Given the description of an element on the screen output the (x, y) to click on. 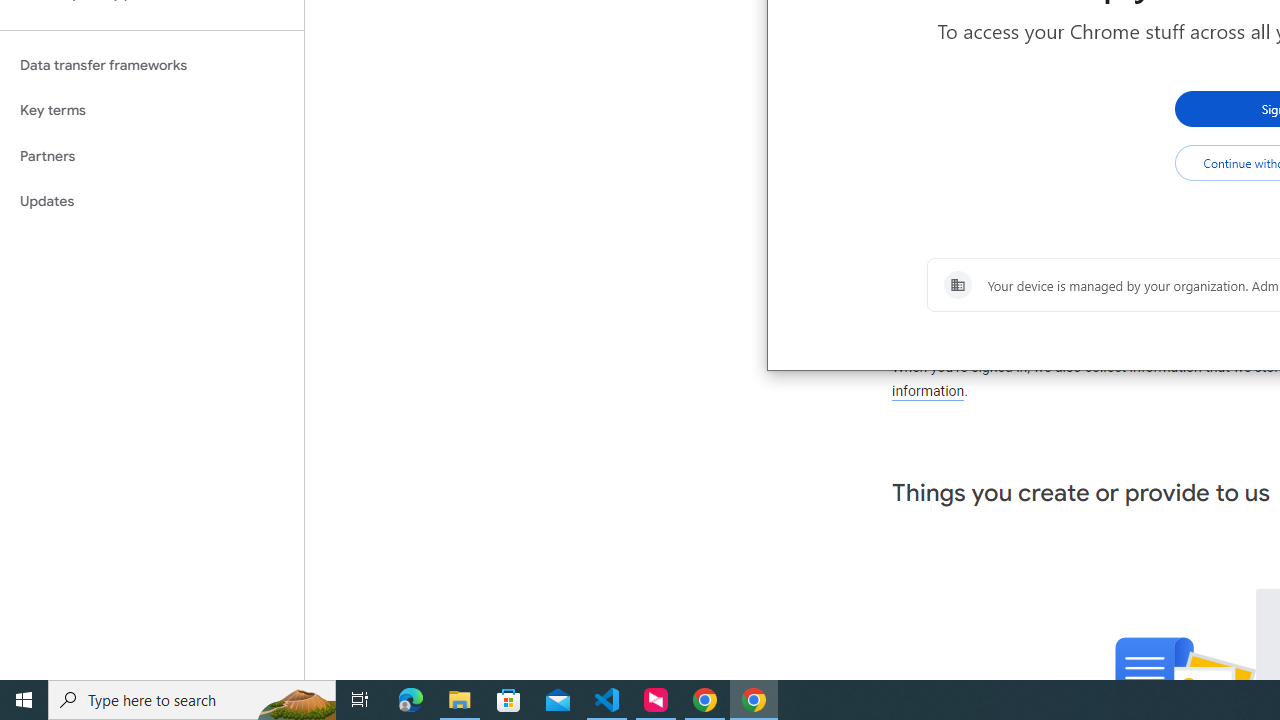
Key terms (152, 110)
Updates (152, 201)
Search highlights icon opens search home window (295, 699)
Start (24, 699)
Microsoft Store (509, 699)
Partners (152, 156)
Google Chrome - 1 running window (754, 699)
File Explorer - 1 running window (460, 699)
Microsoft Edge (411, 699)
Data transfer frameworks (152, 65)
Task View (359, 699)
Visual Studio Code - 1 running window (607, 699)
